Given the description of an element on the screen output the (x, y) to click on. 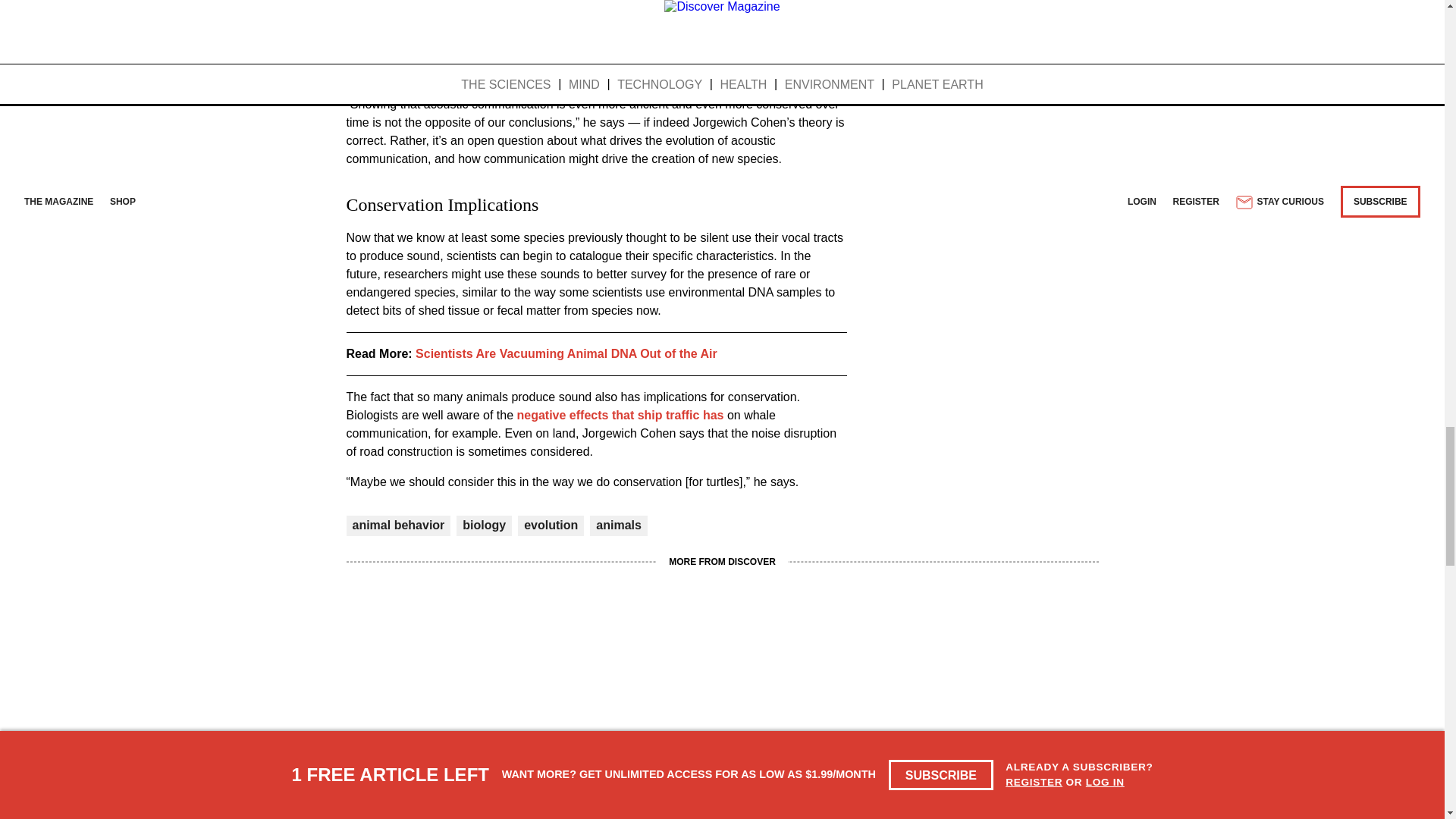
Scientists Are Vacuuming Animal DNA Out of the Air (565, 353)
biology (484, 524)
animal behavior (398, 524)
negative effects that ship traffic has (619, 414)
animals (618, 524)
evolution (551, 524)
